Given the description of an element on the screen output the (x, y) to click on. 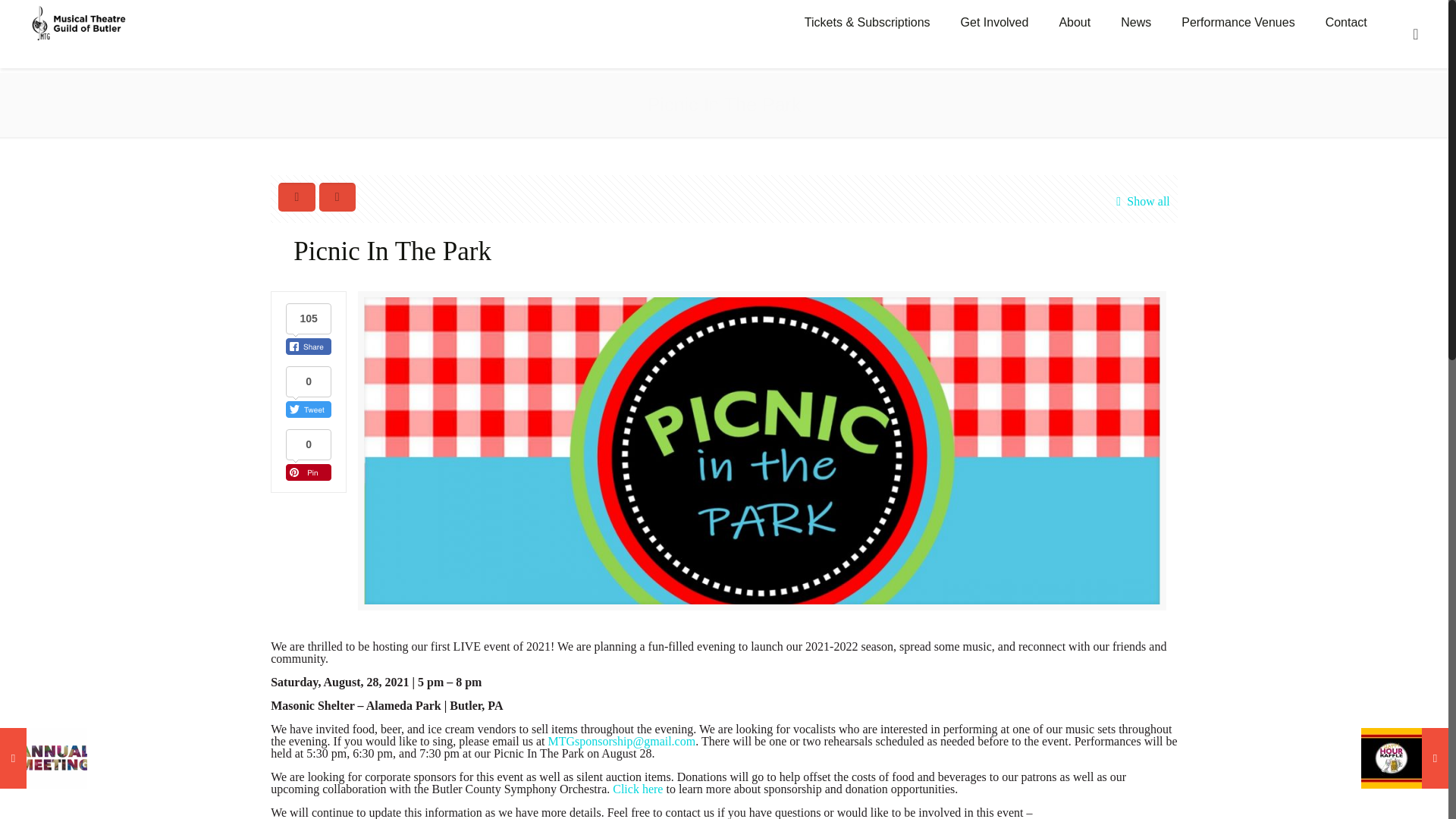
Show all (1139, 201)
Click here (637, 788)
Musical Theatre Guild of Butler (80, 22)
Performance Venues (1237, 22)
News (1135, 22)
Contact (1345, 22)
About (1074, 22)
Get Involved (993, 22)
